Given the description of an element on the screen output the (x, y) to click on. 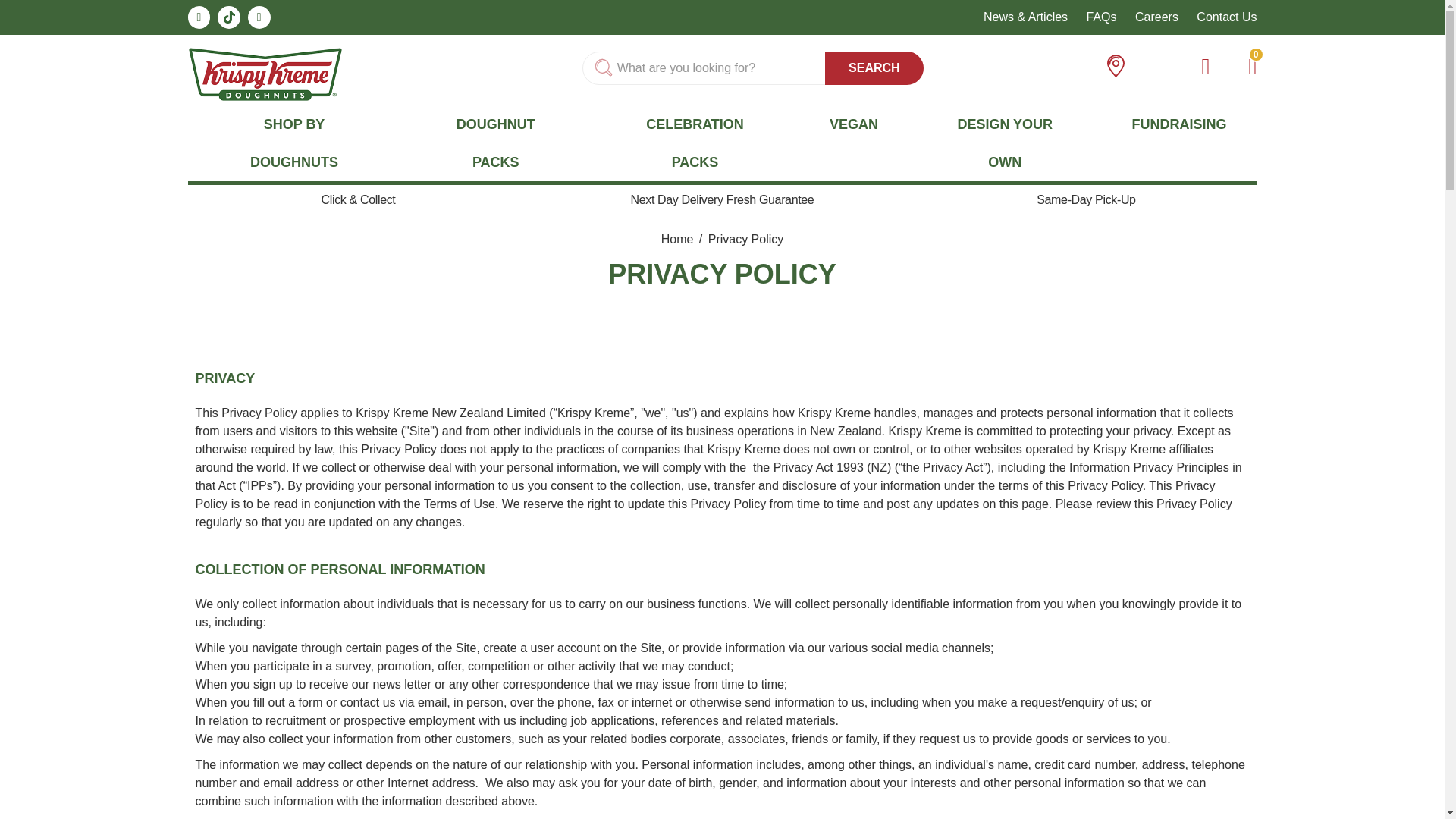
Search (874, 68)
Careers (1156, 17)
Contact Us (1226, 17)
DOUGHNUT PACKS (496, 142)
Go to Home Page (679, 238)
SEARCH (874, 68)
SHOP BY DOUGHNUTS (294, 142)
VEGAN (853, 124)
FAQs (1101, 17)
Krispy Kreme logo (264, 72)
CELEBRATION PACKS (695, 142)
Krispy Kreme logo (264, 73)
